Given the description of an element on the screen output the (x, y) to click on. 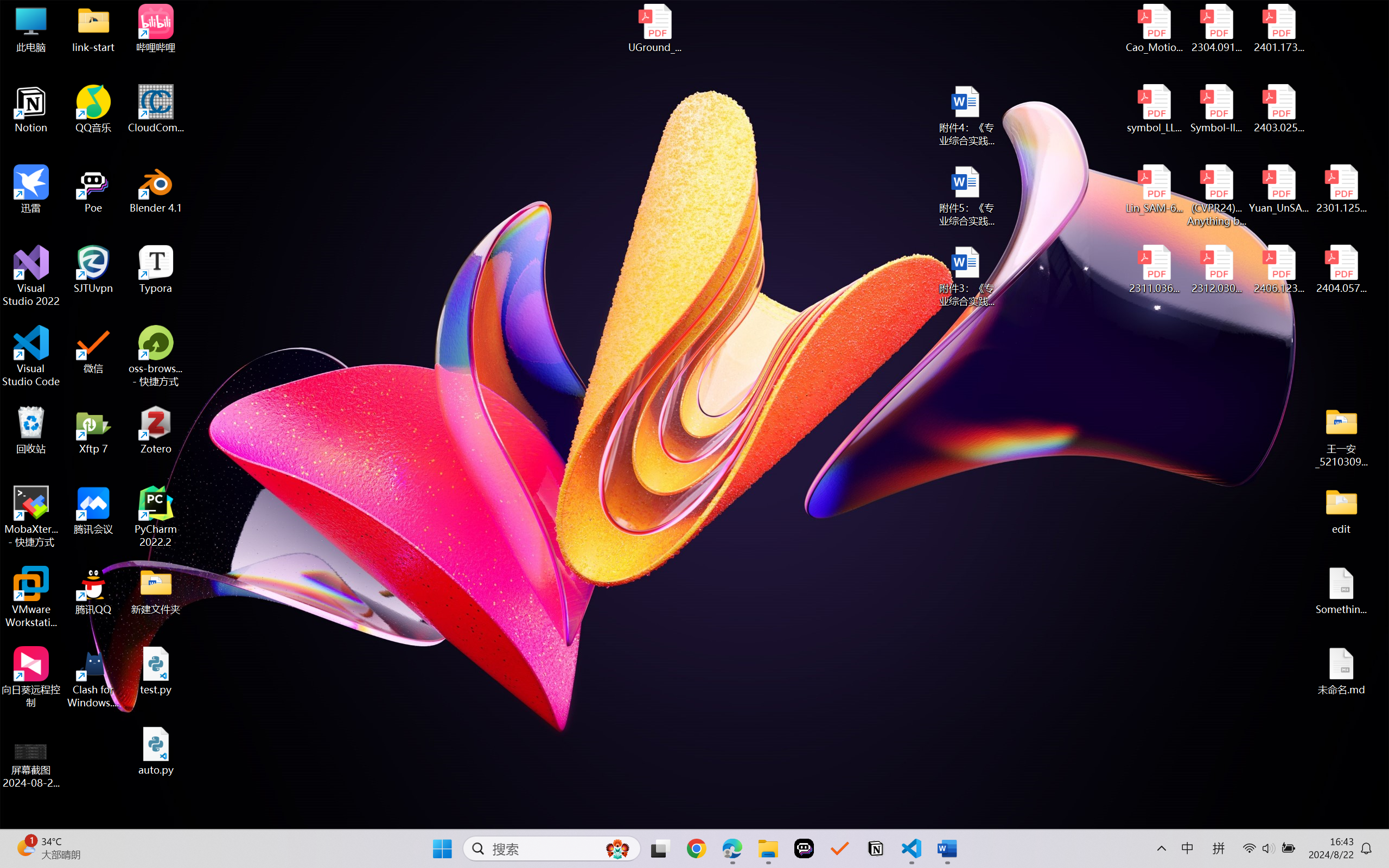
2406.12373v2.pdf (1278, 269)
VMware Workstation Pro (31, 597)
2403.02502v1.pdf (1278, 109)
2311.03658v2.pdf (1154, 269)
2301.12597v3.pdf (1340, 189)
